Given the description of an element on the screen output the (x, y) to click on. 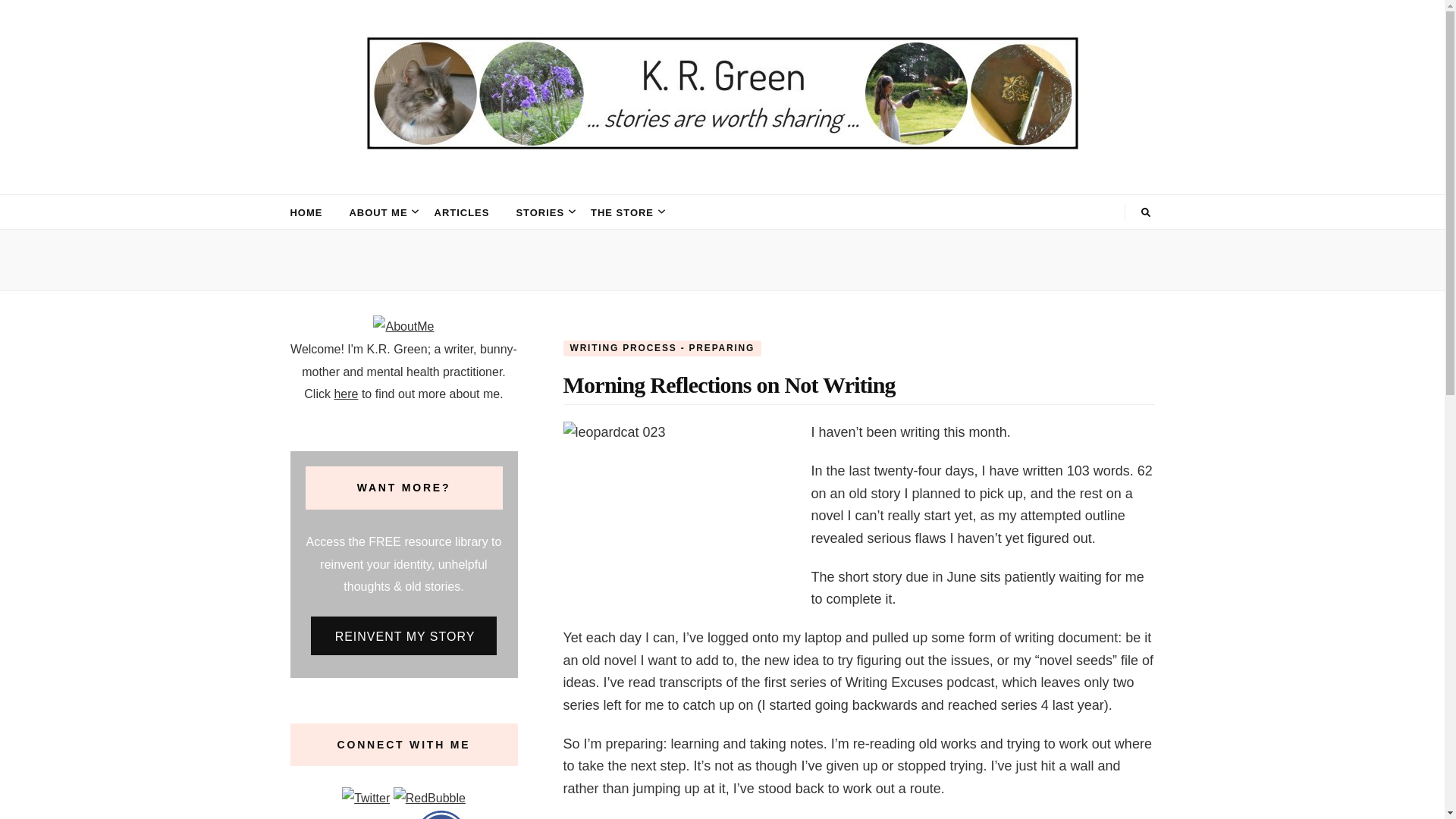
STORIES (539, 212)
ABOUT ME (378, 212)
WRITING PROCESS - PREPARING (661, 347)
HOME (305, 212)
REINVENT MY STORY (404, 635)
THE STORE (622, 212)
K.R.Green (389, 181)
here (345, 393)
ARTICLES (461, 212)
